Given the description of an element on the screen output the (x, y) to click on. 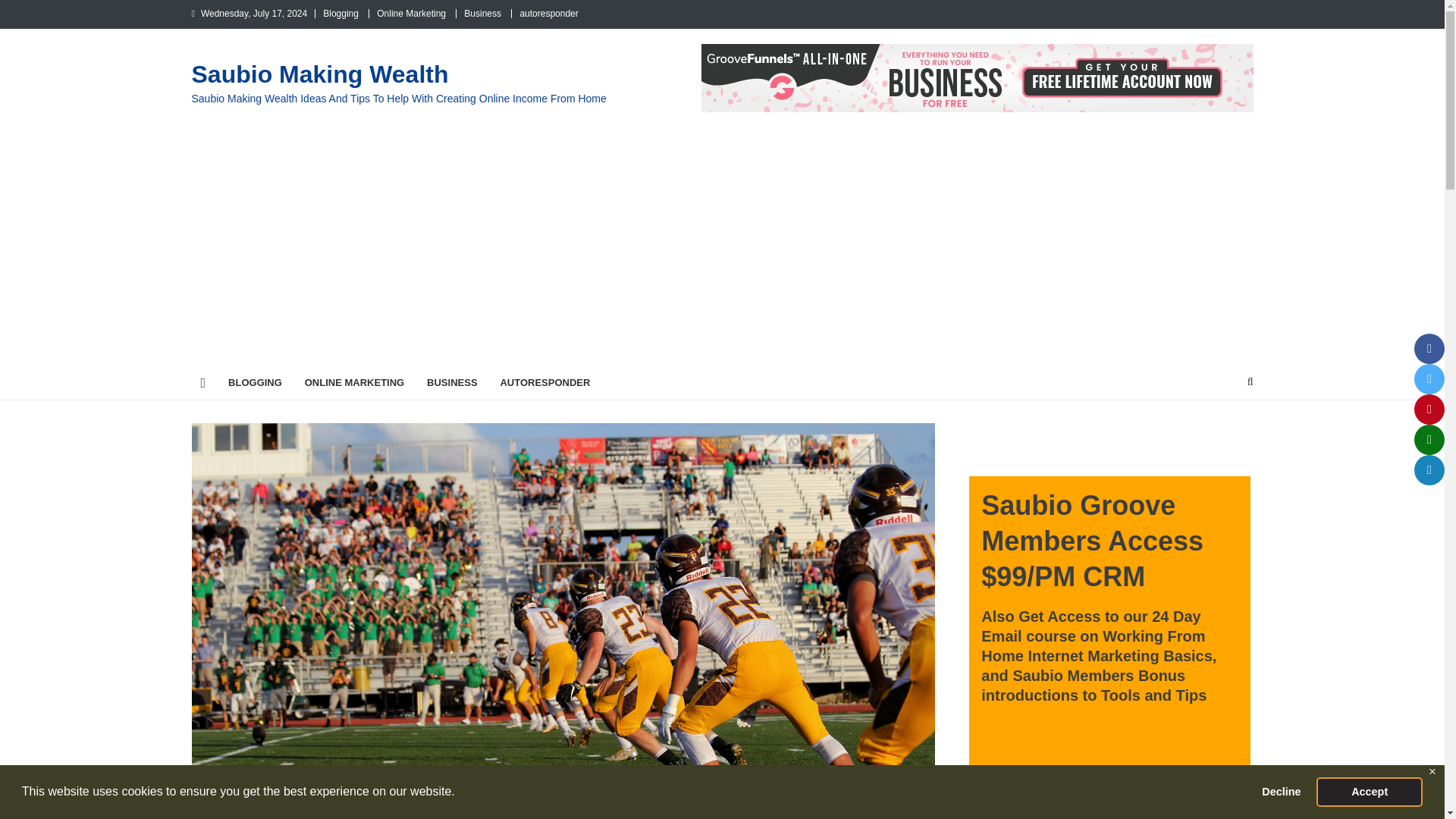
Search (1221, 431)
Blogging (340, 13)
BLOGGING (255, 382)
Decline (1281, 791)
Business (482, 13)
Accept (1369, 791)
BUSINESS (450, 382)
AUTORESPONDER (544, 382)
ONLINE MARKETING (354, 382)
Online Marketing (411, 13)
Saubio Making Wealth (319, 73)
autoresponder (548, 13)
